Given the description of an element on the screen output the (x, y) to click on. 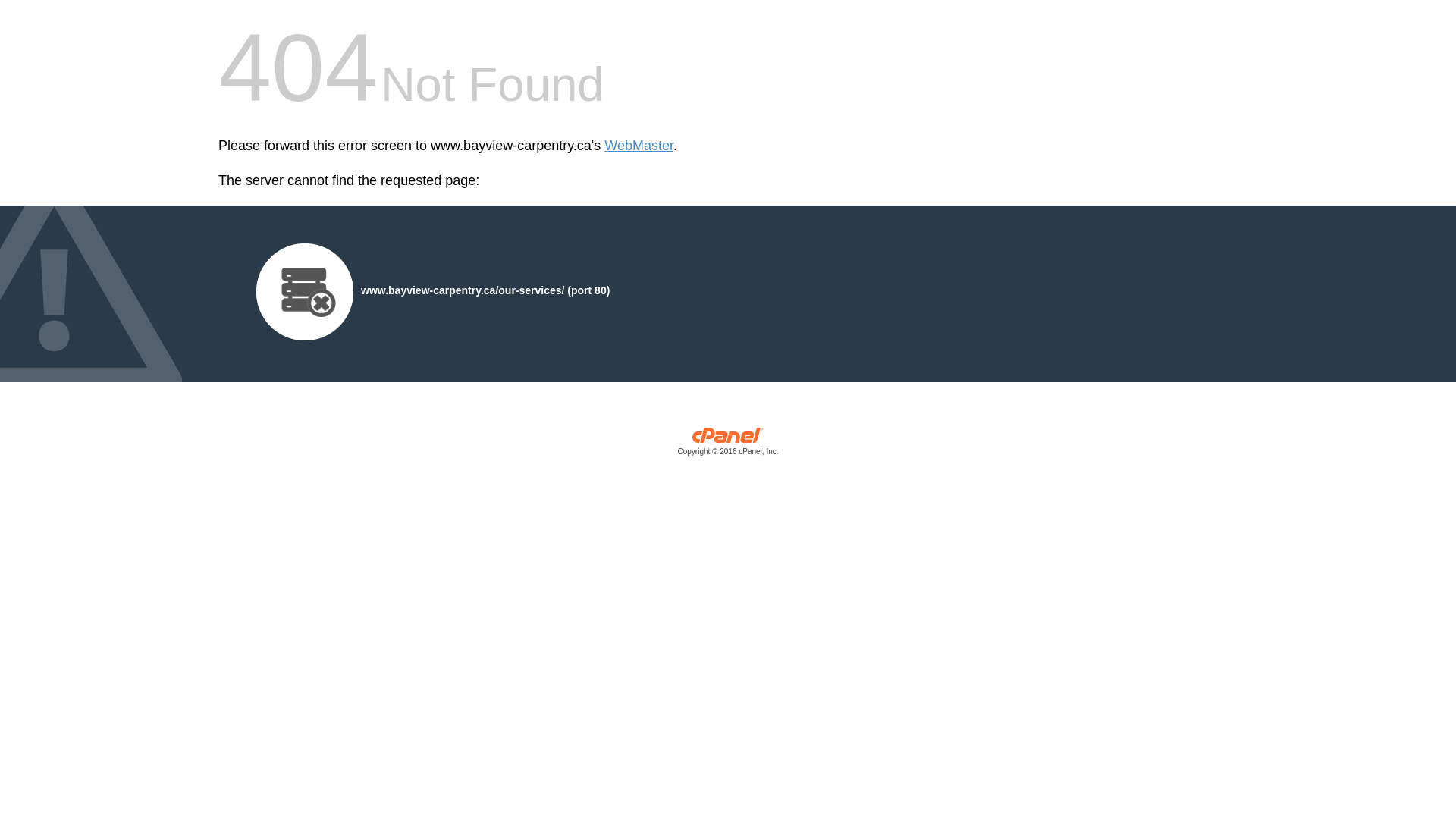
WebMaster Element type: text (638, 145)
